Given the description of an element on the screen output the (x, y) to click on. 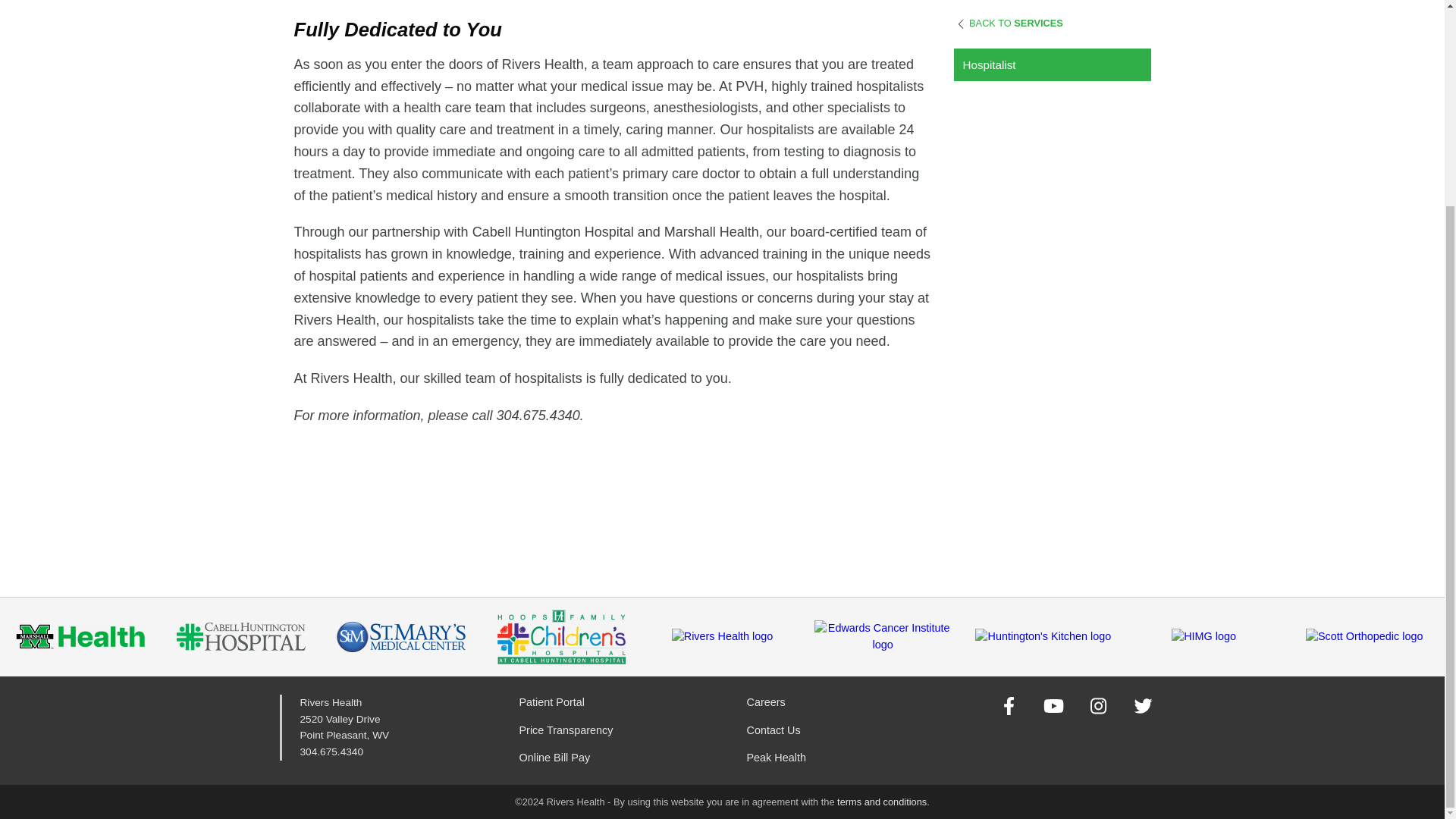
Instagram (1098, 705)
YouTube (1052, 705)
Facebook (1008, 705)
Twitter (1143, 705)
